Given the description of an element on the screen output the (x, y) to click on. 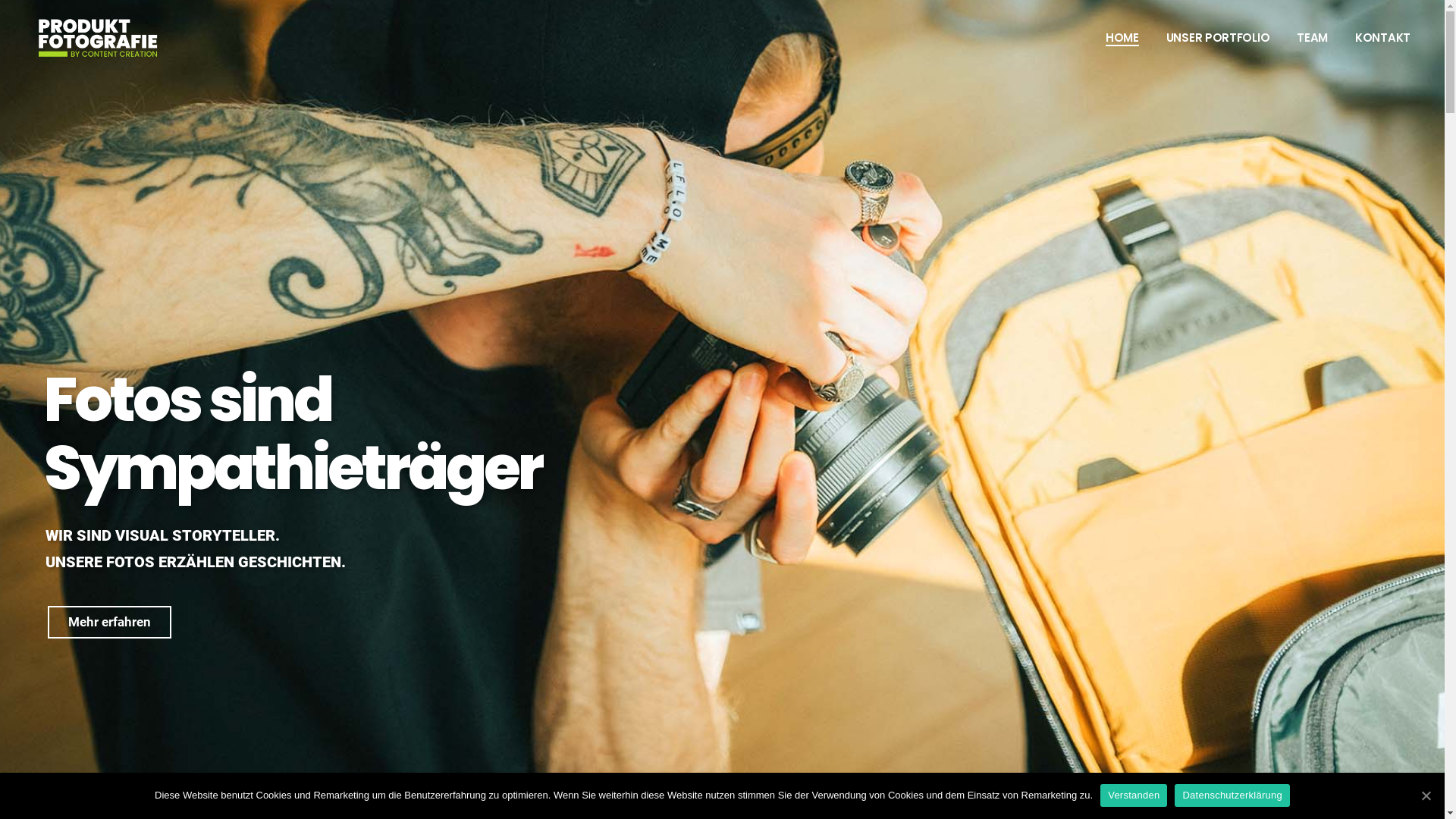
Verstanden Element type: text (1133, 795)
UNSER PORTFOLIO Element type: text (1218, 37)
TEAM Element type: text (1311, 37)
KONTAKT Element type: text (1382, 37)
HOME Element type: text (1122, 37)
Mehr erfahren Element type: text (109, 621)
